Given the description of an element on the screen output the (x, y) to click on. 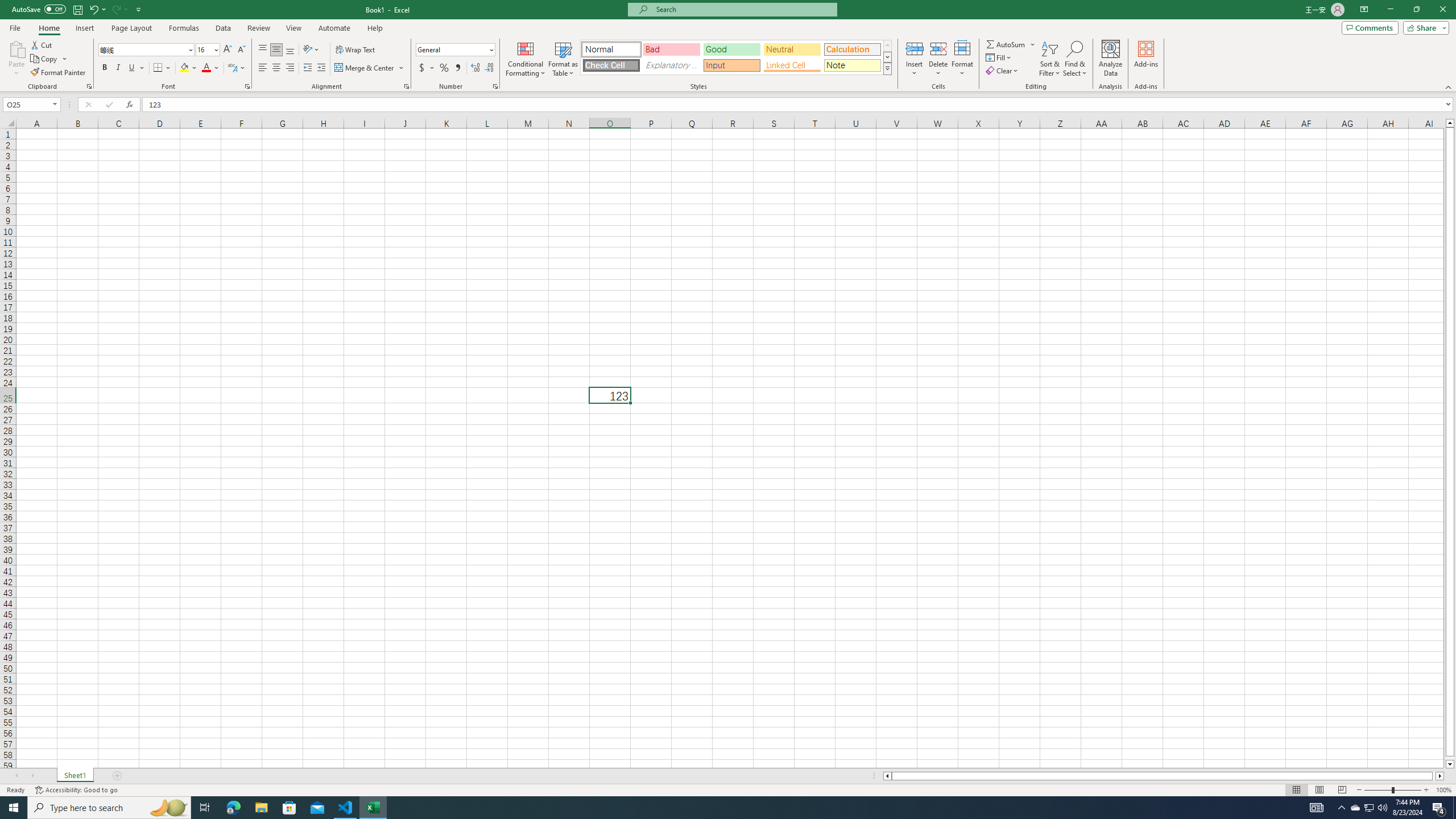
Sum (1006, 44)
Font Size (207, 49)
Accounting Number Format (422, 67)
Center (276, 67)
Check Cell (611, 65)
Comma Style (457, 67)
Show Phonetic Field (231, 67)
Linked Cell (791, 65)
Font (147, 49)
Fill Color RGB(255, 255, 0) (183, 67)
